Given the description of an element on the screen output the (x, y) to click on. 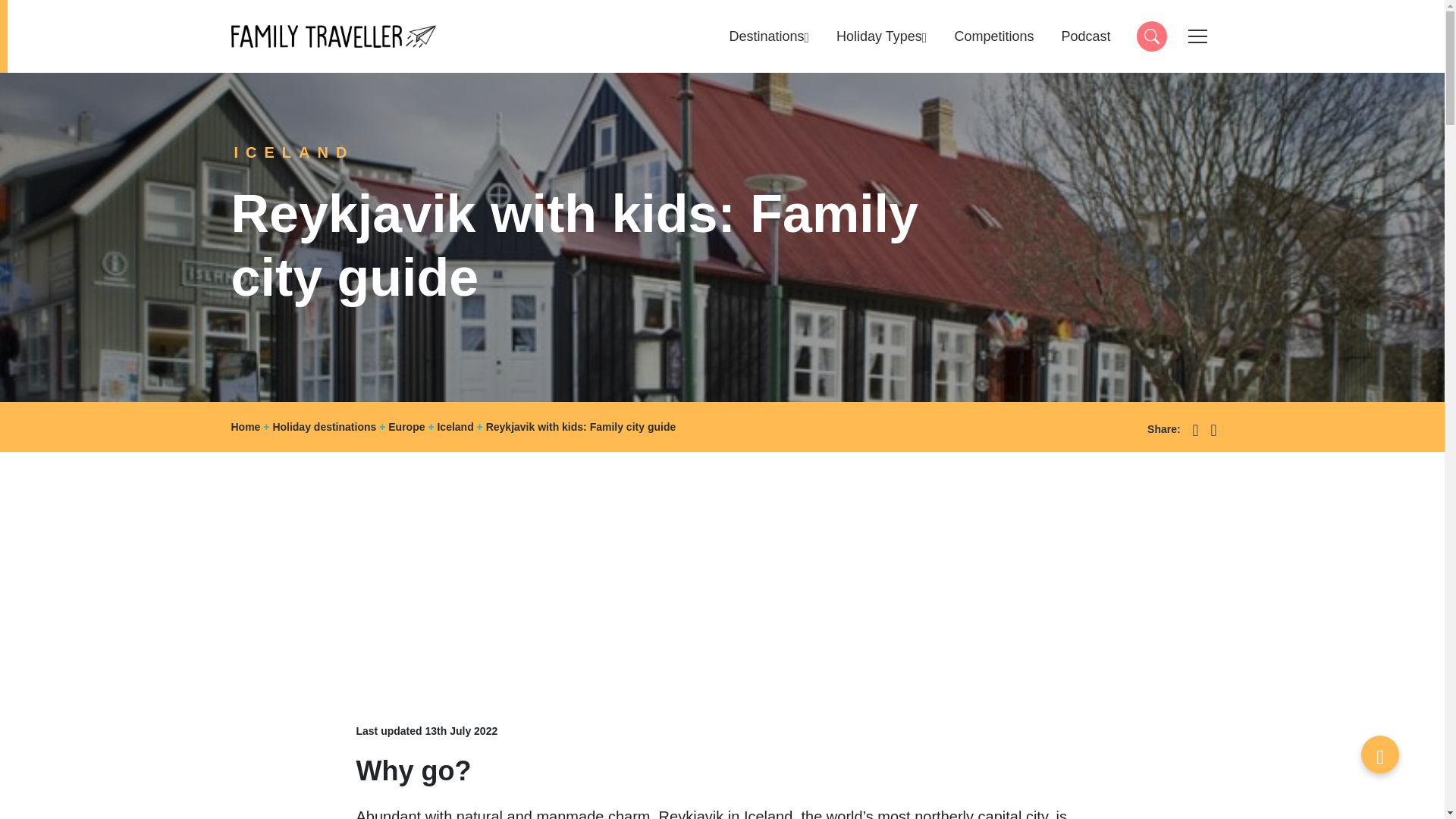
Competitions (993, 36)
Podcast (332, 36)
Holiday Types (1085, 36)
3rd party ad content (881, 36)
Destinations (1150, 36)
